Given the description of an element on the screen output the (x, y) to click on. 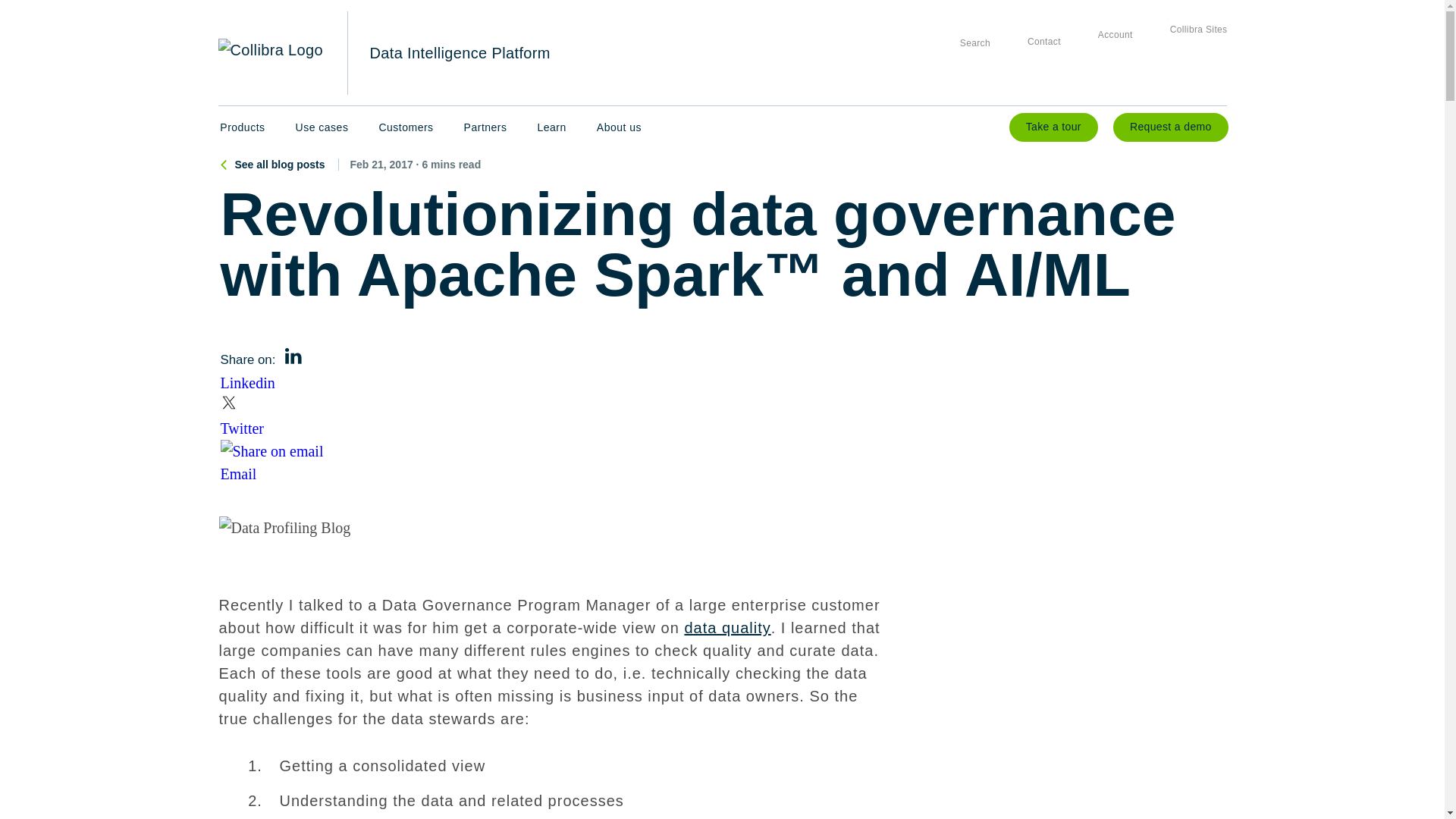
Collibra.com (271, 53)
Account (1109, 53)
Data Intelligence Platform (460, 53)
Products (242, 127)
